Given the description of an element on the screen output the (x, y) to click on. 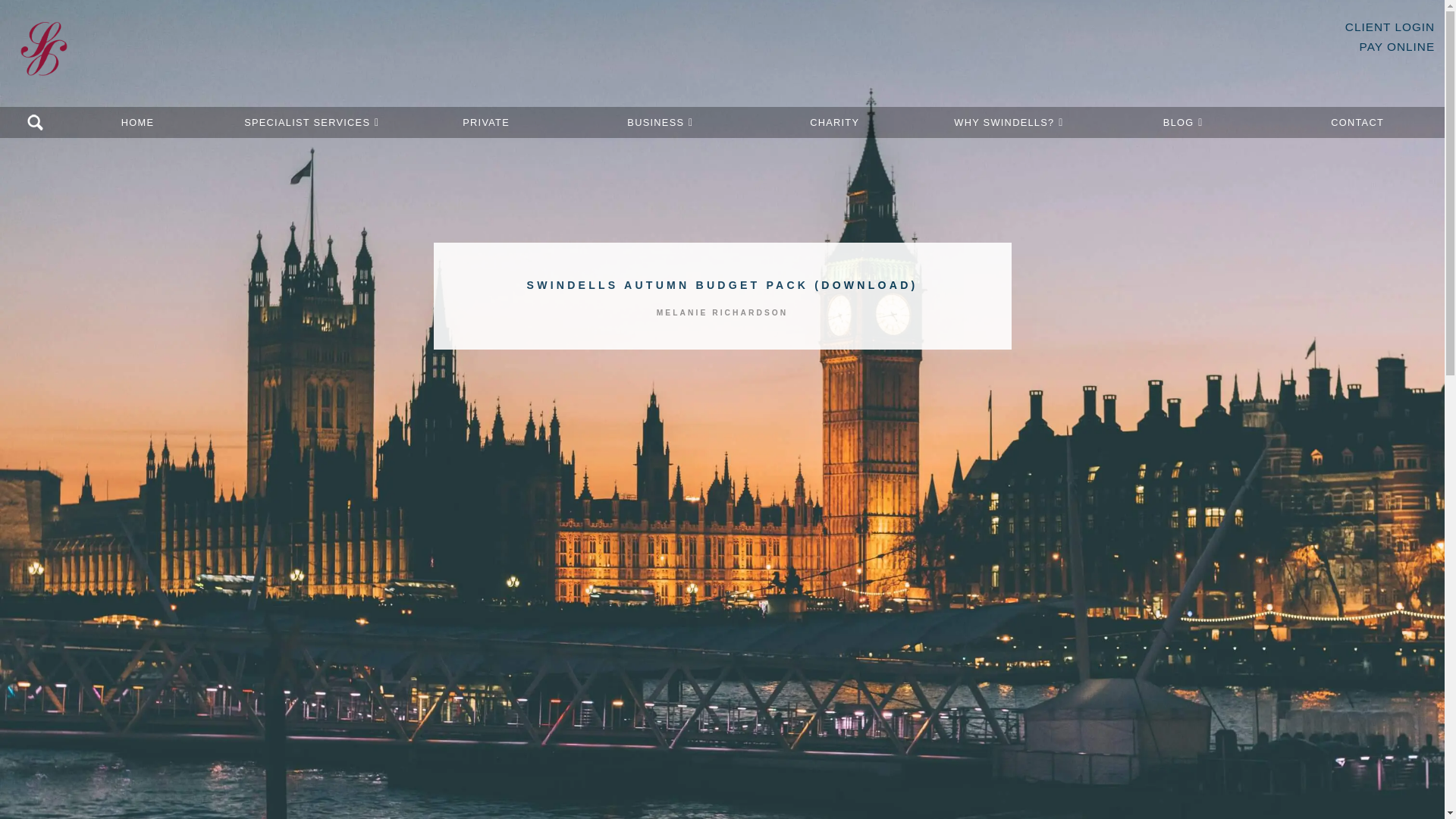
SPECIALIST SERVICES (311, 122)
BLOG (1182, 122)
CLIENT LOGIN (1389, 26)
HOME (137, 122)
Swindells Chartered Accountants Sussex (44, 63)
WHY SWINDELLS? (1008, 122)
LATEST (529, 448)
PAY ONLINE (1397, 46)
SWINDELLS LLP BUDGET PACK (722, 343)
PRIVATE (485, 122)
BUSINESS (660, 122)
CHARITY (834, 122)
